Given the description of an element on the screen output the (x, y) to click on. 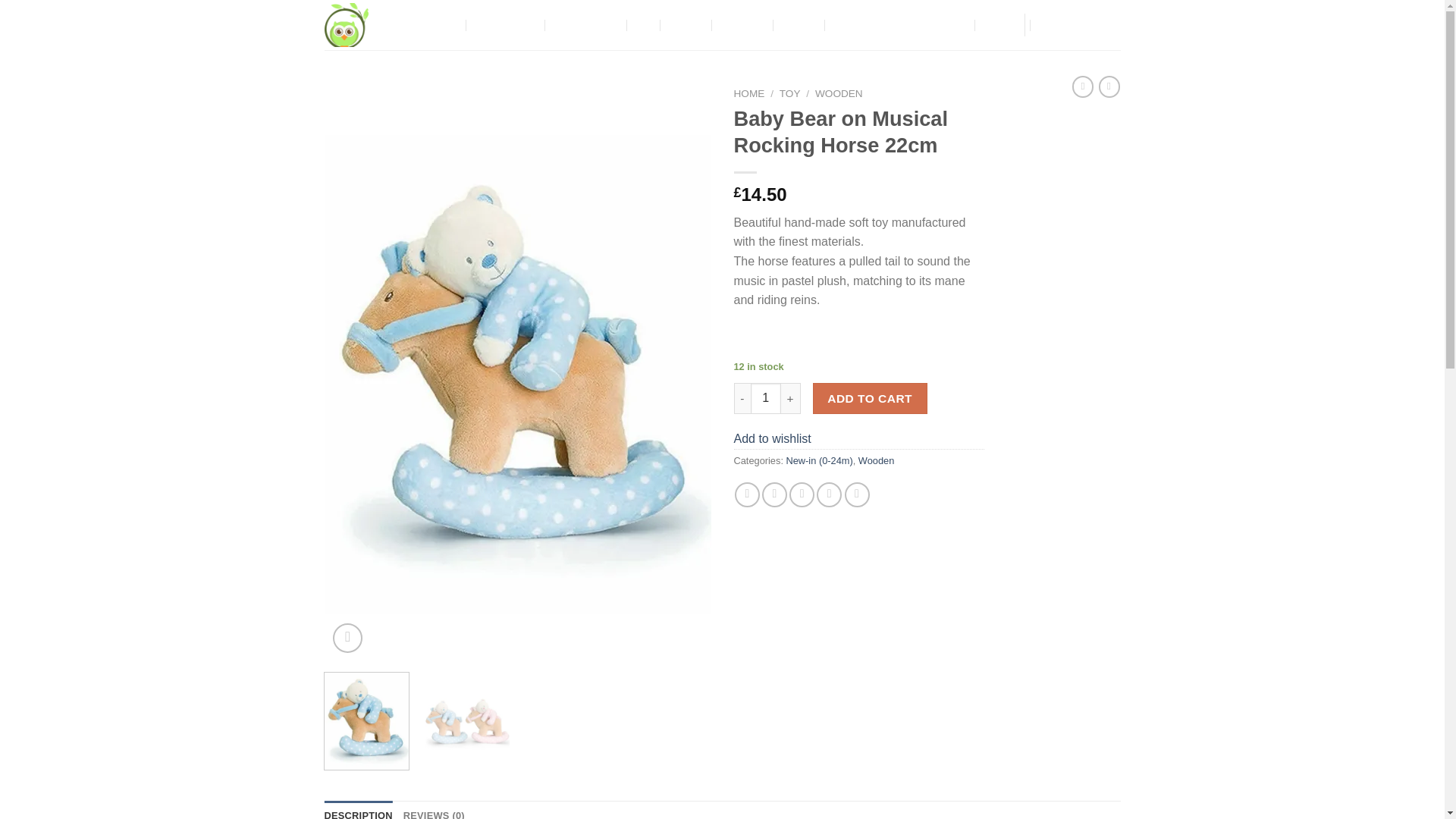
Cart (1079, 24)
Pin on Pinterest (828, 494)
Share on Twitter (774, 494)
1 (765, 398)
Share on Facebook (747, 494)
Zoom (347, 637)
Share on LinkedIn (856, 494)
Login (997, 24)
Email to a Friend (801, 494)
